Given the description of an element on the screen output the (x, y) to click on. 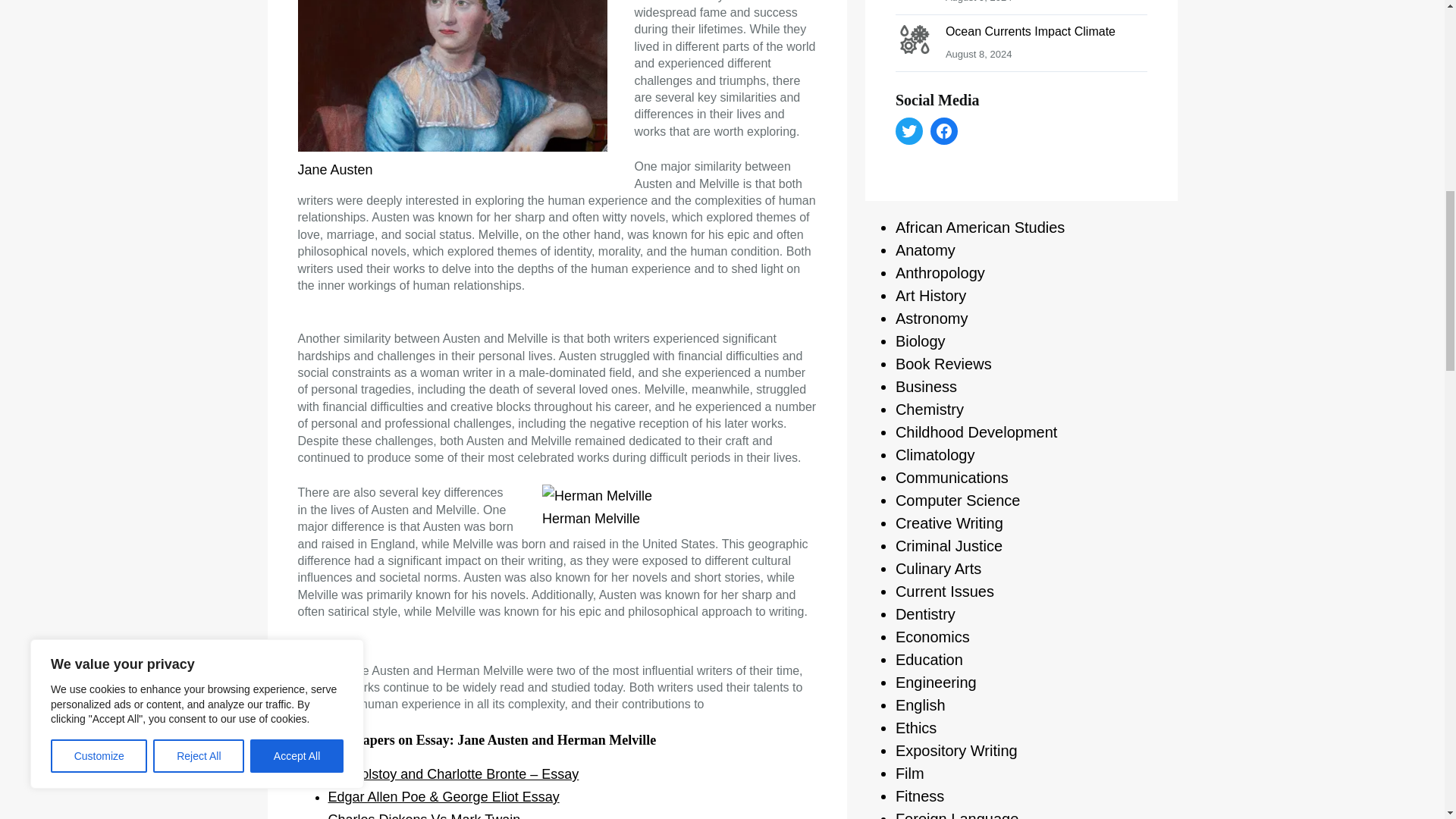
Twitter (909, 130)
Ocean Currents Impact Climate (1029, 31)
African American Studies (979, 227)
Facebook (944, 130)
Charles Dickens Vs Mark Twain (423, 815)
Anatomy (925, 249)
